Given the description of an element on the screen output the (x, y) to click on. 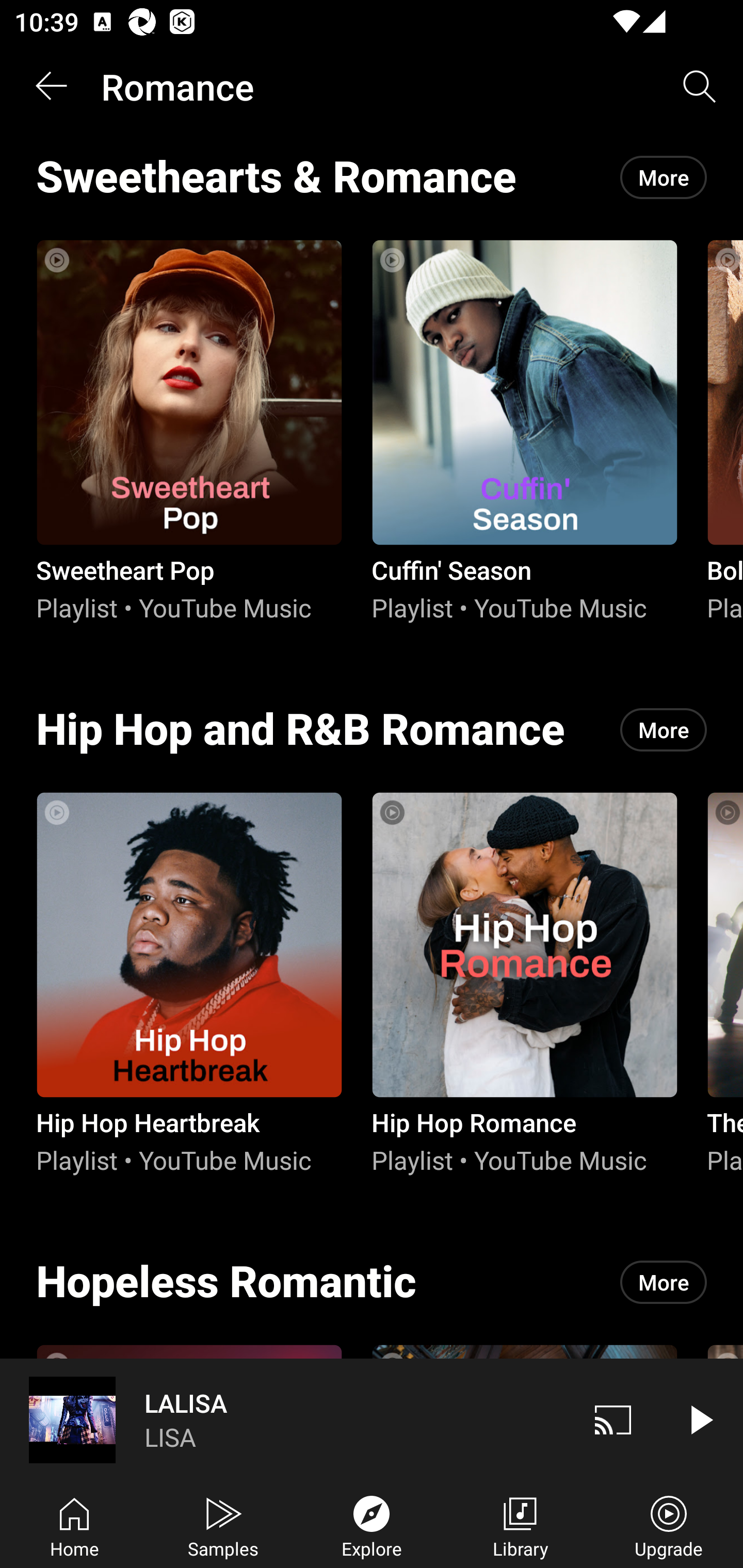
Back (50, 86)
Search (699, 86)
More (663, 177)
More (663, 729)
Hopeless Romantic Hopeless Romantic More More (371, 1282)
More (663, 1282)
LALISA LISA (284, 1419)
Cast. Disconnected (612, 1419)
Play video (699, 1419)
Home (74, 1524)
Samples (222, 1524)
Library (519, 1524)
Upgrade (668, 1524)
